Given the description of an element on the screen output the (x, y) to click on. 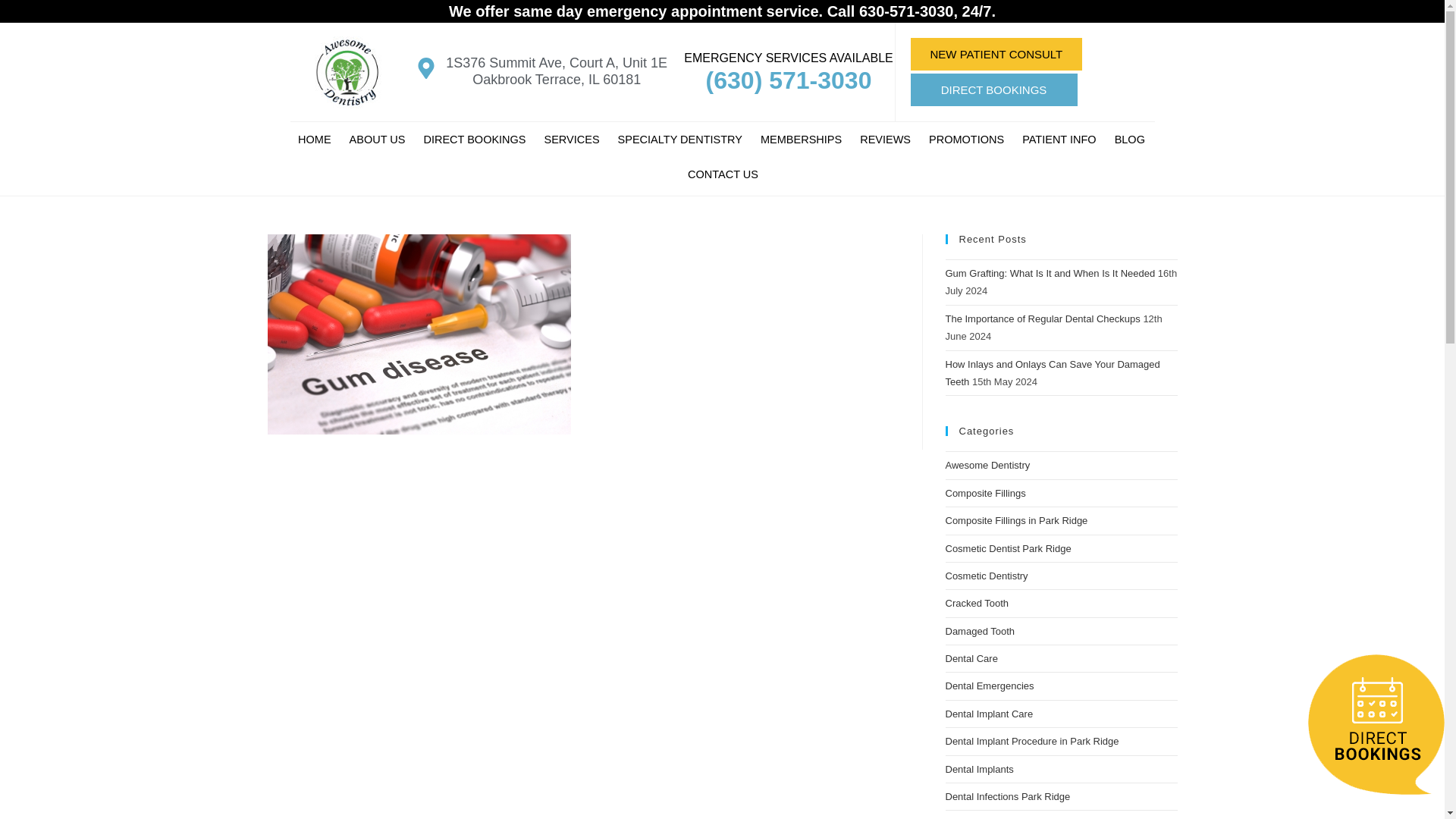
ABOUT US (377, 139)
NEW PATIENT CONSULT (995, 53)
HOME (314, 139)
General Dentistry (572, 139)
CONTACT US (722, 174)
MEMBERSHIPS (800, 139)
REVIEWS (884, 139)
PROMOTIONS (966, 139)
Awesome Dentistry (314, 139)
Our Specialty Dentistry Services (679, 139)
SPECIALTY DENTISTRY (679, 139)
BLOG (1129, 139)
DIRECT BOOKINGS (473, 139)
DIRECT BOOKINGS (993, 89)
